Given the description of an element on the screen output the (x, y) to click on. 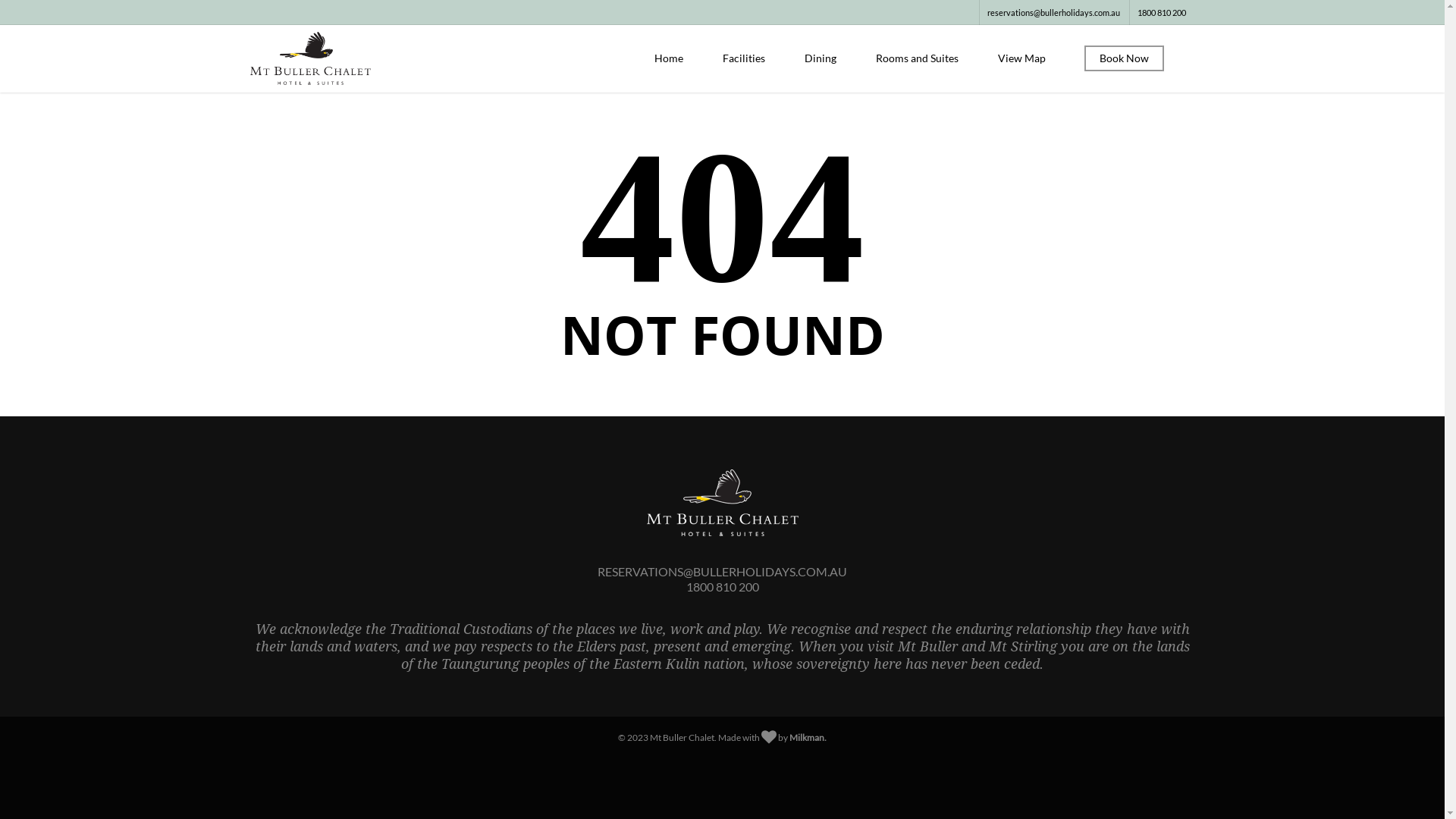
Rooms and Suites Element type: text (916, 61)
Home Element type: text (668, 61)
View Map Element type: text (1021, 61)
Dining Element type: text (820, 61)
RESERVATIONS@BULLERHOLIDAYS.COM.AU Element type: text (722, 571)
reservations@bullerholidays.com.au Element type: text (1053, 12)
Book Now Element type: text (1124, 61)
Facilities Element type: text (743, 61)
Taungurung Element type: text (480, 663)
1800 810 200 Element type: text (1161, 12)
1800 810 200 Element type: text (721, 586)
Milkman. Element type: text (807, 737)
